Given the description of an element on the screen output the (x, y) to click on. 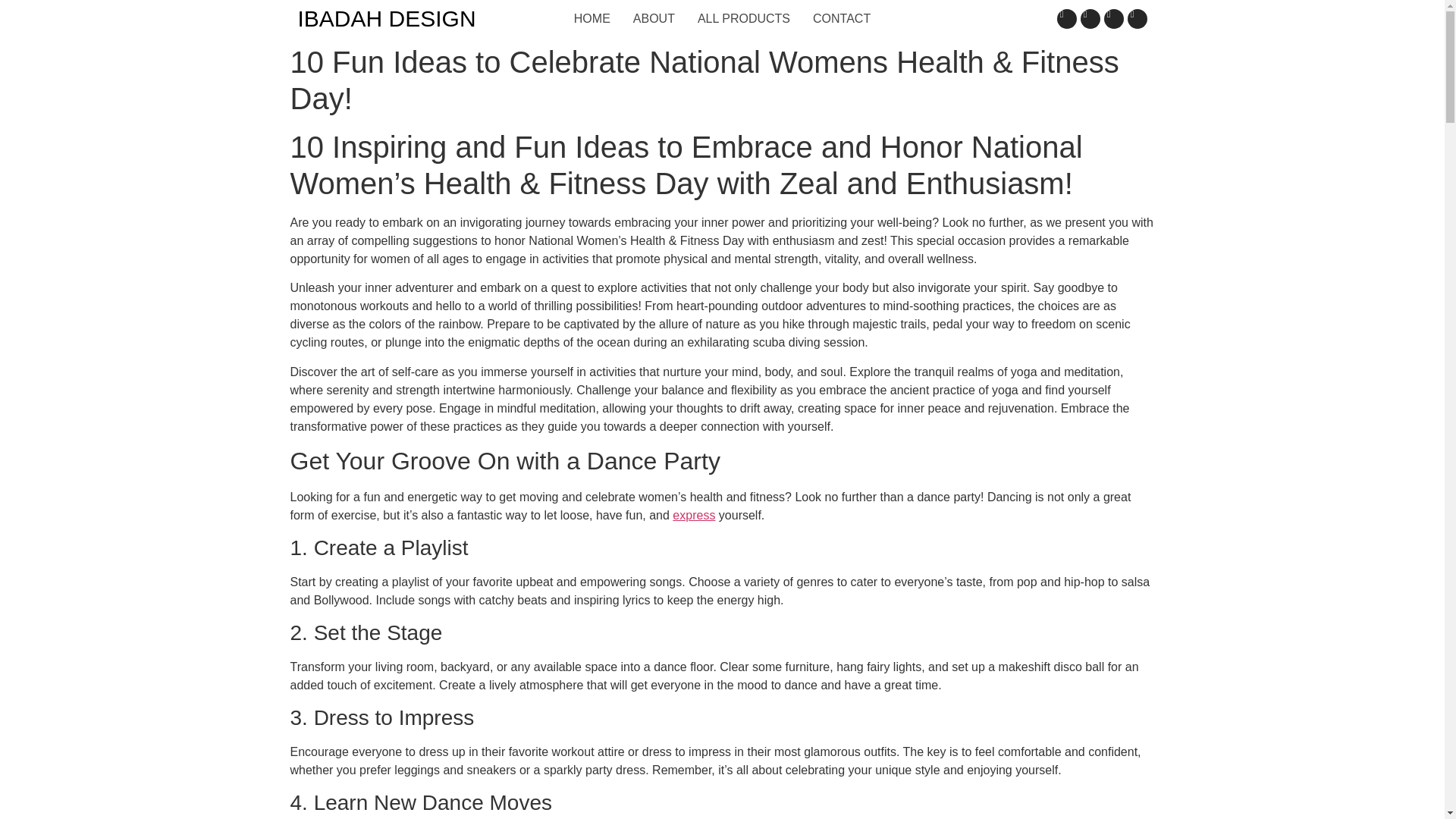
ABOUT (653, 18)
ALL PRODUCTS (743, 18)
HOME (591, 18)
IBADAH DESIGN (386, 18)
